Given the description of an element on the screen output the (x, y) to click on. 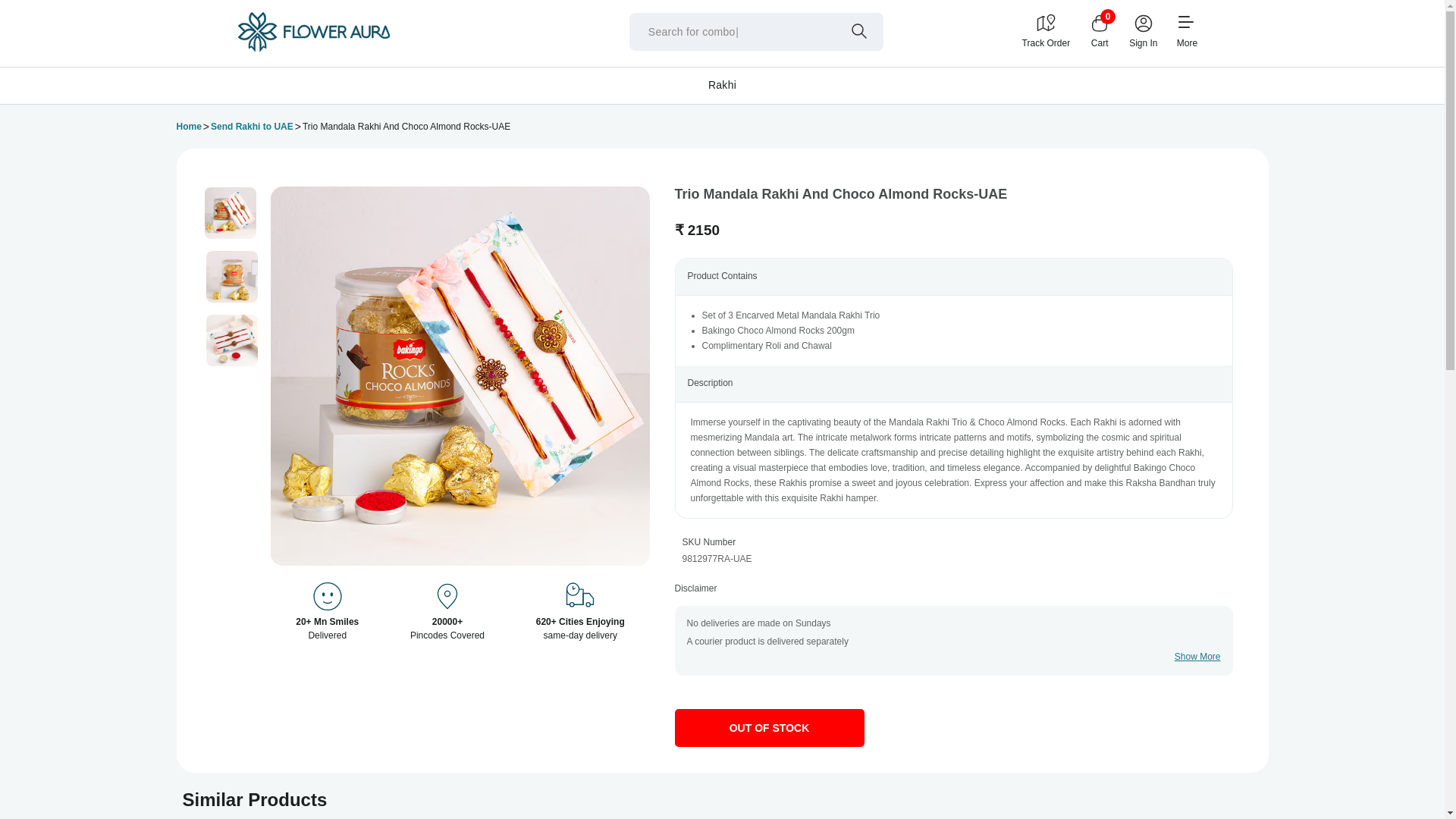
Delivered (327, 597)
Track Order (1046, 31)
Track Order (1046, 31)
Delivered (447, 597)
Home (312, 48)
Home (188, 127)
Rakhi (722, 84)
OUT OF STOCK (769, 727)
Home (188, 127)
Send Rakhi to UAE (252, 127)
Send Rakhi to UAE (252, 127)
